Given the description of an element on the screen output the (x, y) to click on. 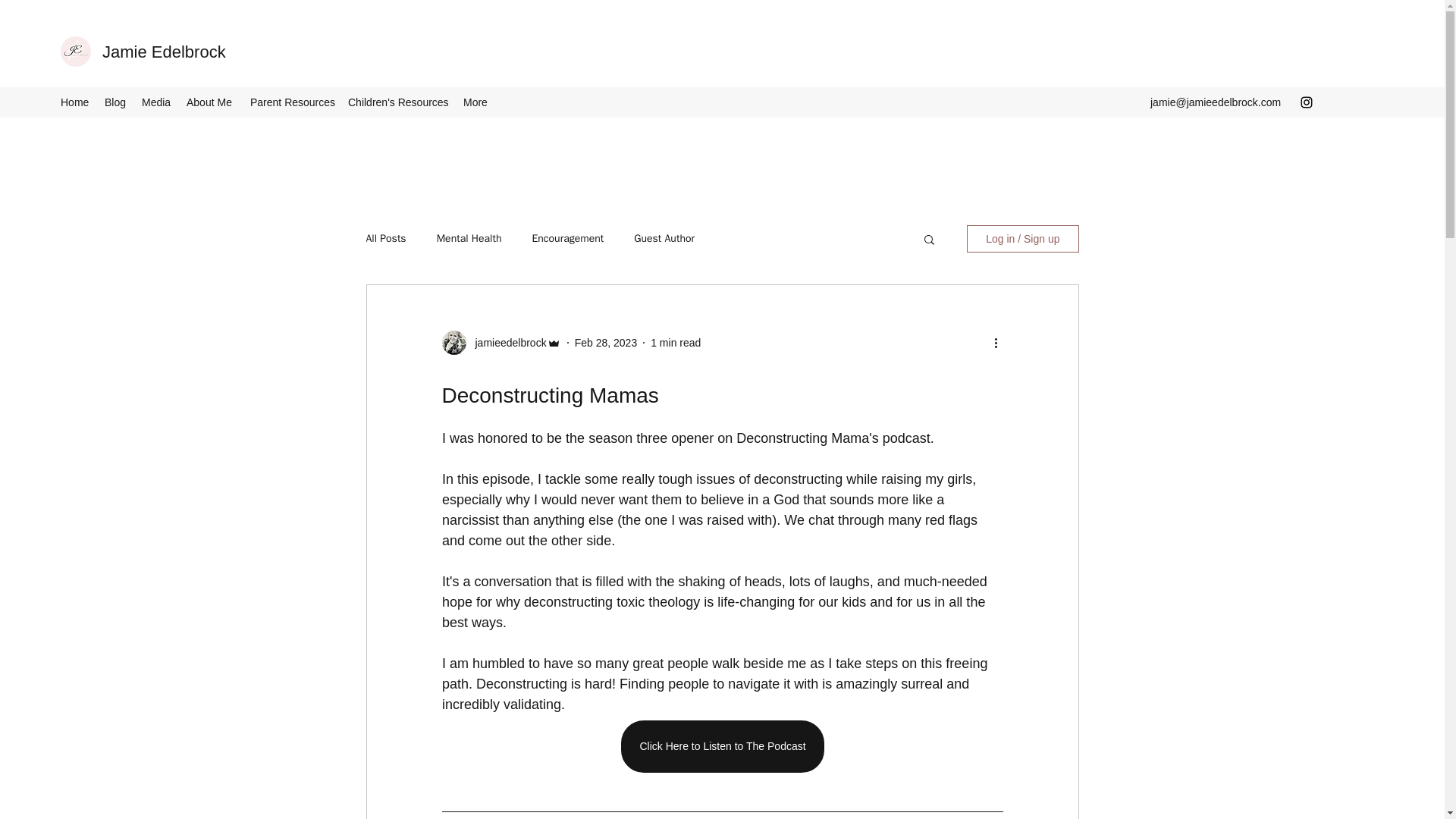
Guest Author (663, 238)
Children's Resources (397, 101)
Parent Resources (291, 101)
Click Here to Listen to The Podcast (722, 746)
Jamie Edelbrock (163, 51)
Home (74, 101)
All Posts (385, 238)
1 min read (675, 342)
Feb 28, 2023 (606, 342)
Encouragement (567, 238)
